Given the description of an element on the screen output the (x, y) to click on. 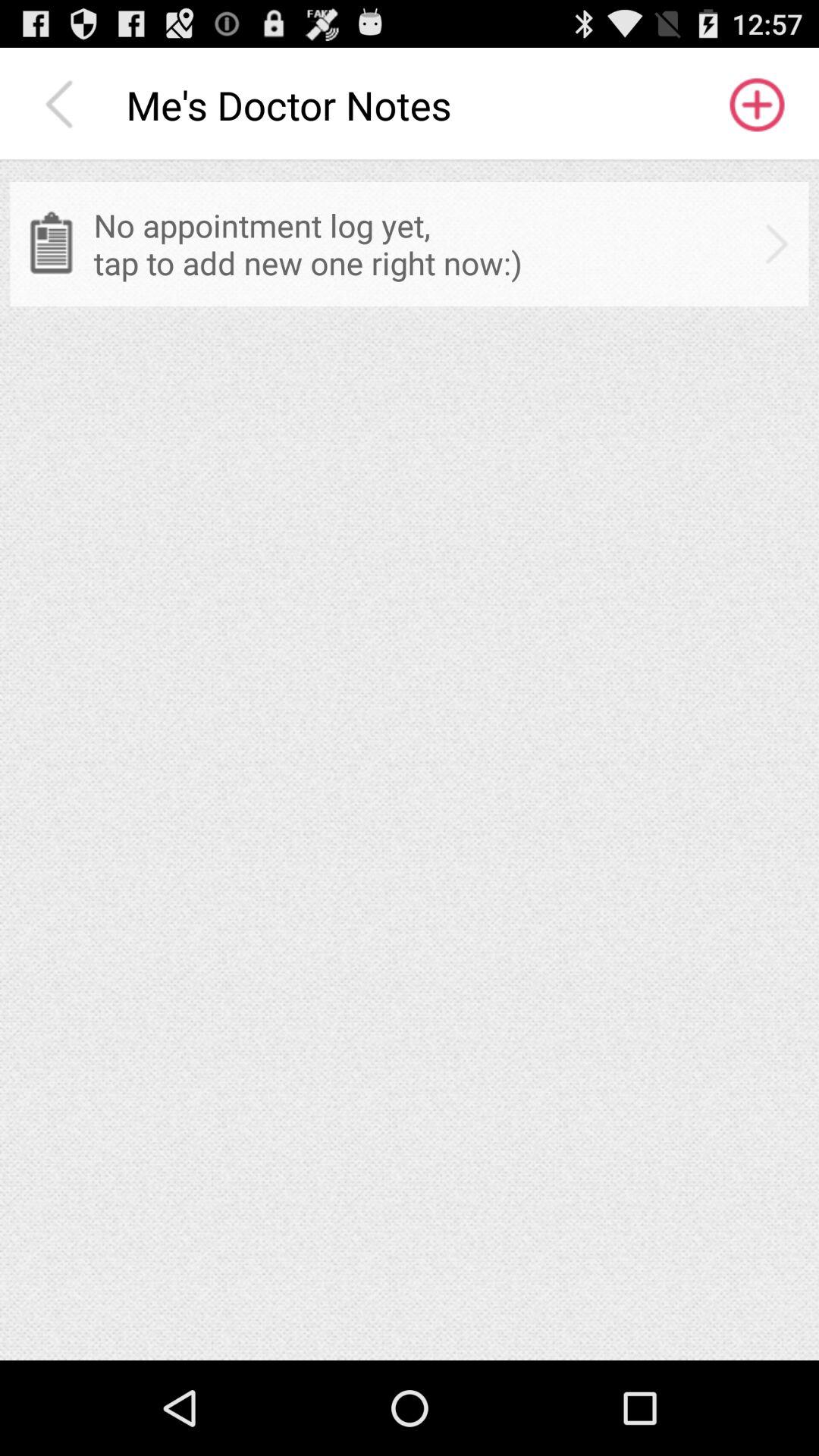
select the app above the no appointment log app (63, 104)
